Given the description of an element on the screen output the (x, y) to click on. 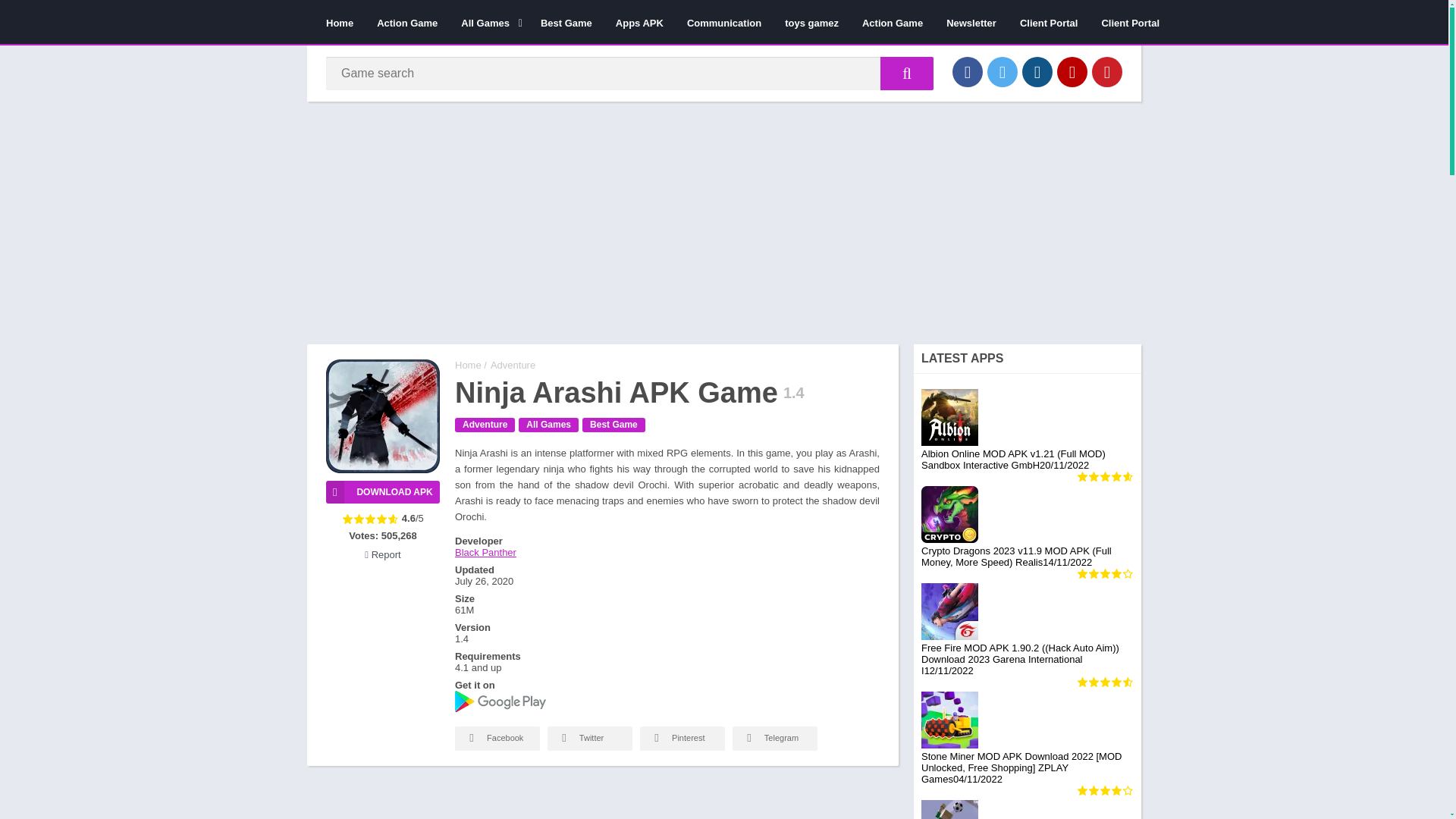
Advertisement (602, 800)
Facebook (967, 71)
Games-Mobilez (467, 365)
Home (339, 22)
All Games (488, 22)
Instagram (1037, 71)
Download APK (382, 491)
Pinterest (1107, 71)
Game search (906, 73)
Twitter (1002, 71)
YouTube (1072, 71)
Action Game (406, 22)
